Given the description of an element on the screen output the (x, y) to click on. 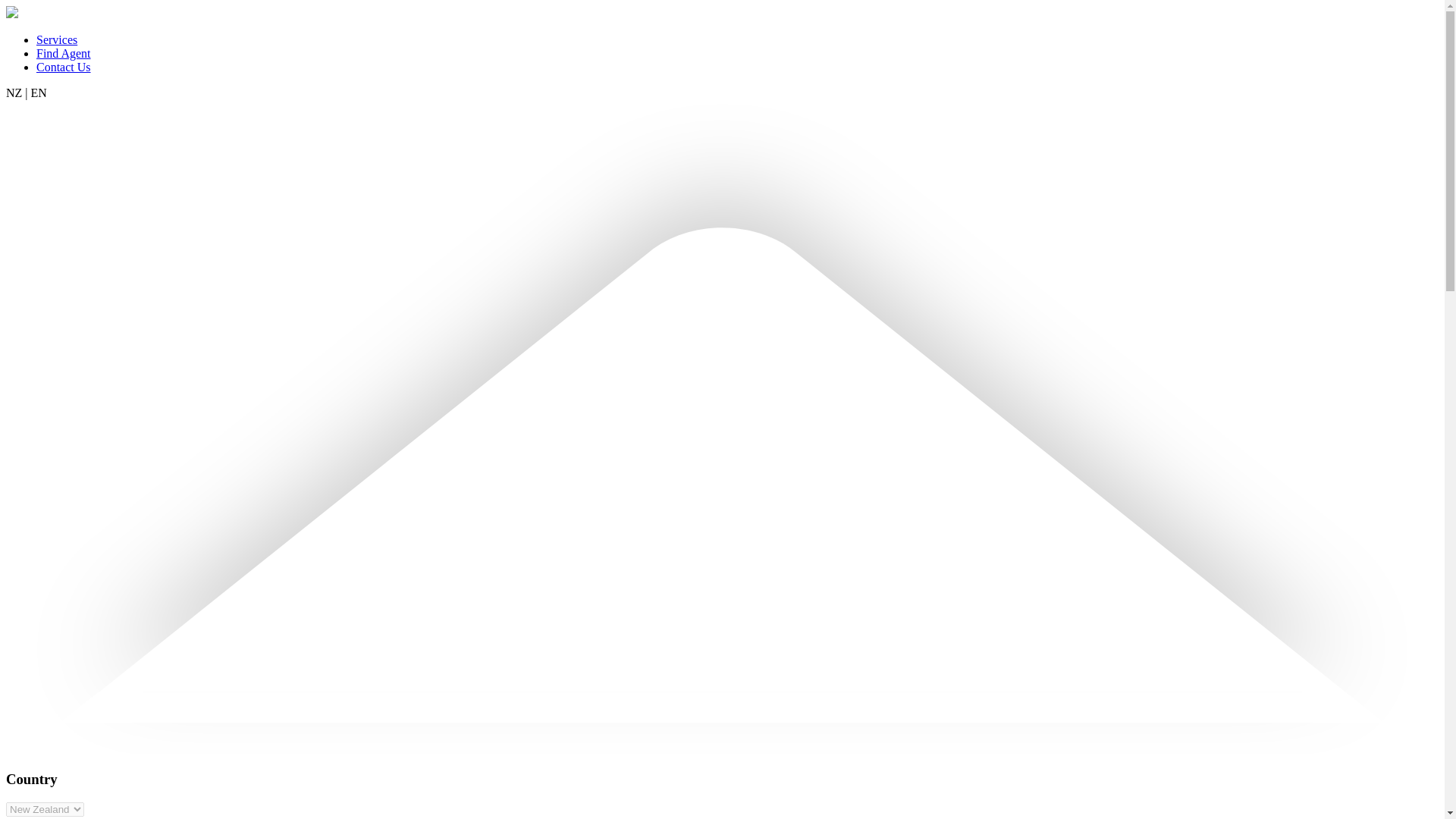
Services (56, 39)
Find Agent (63, 52)
Contact Us (63, 66)
